Given the description of an element on the screen output the (x, y) to click on. 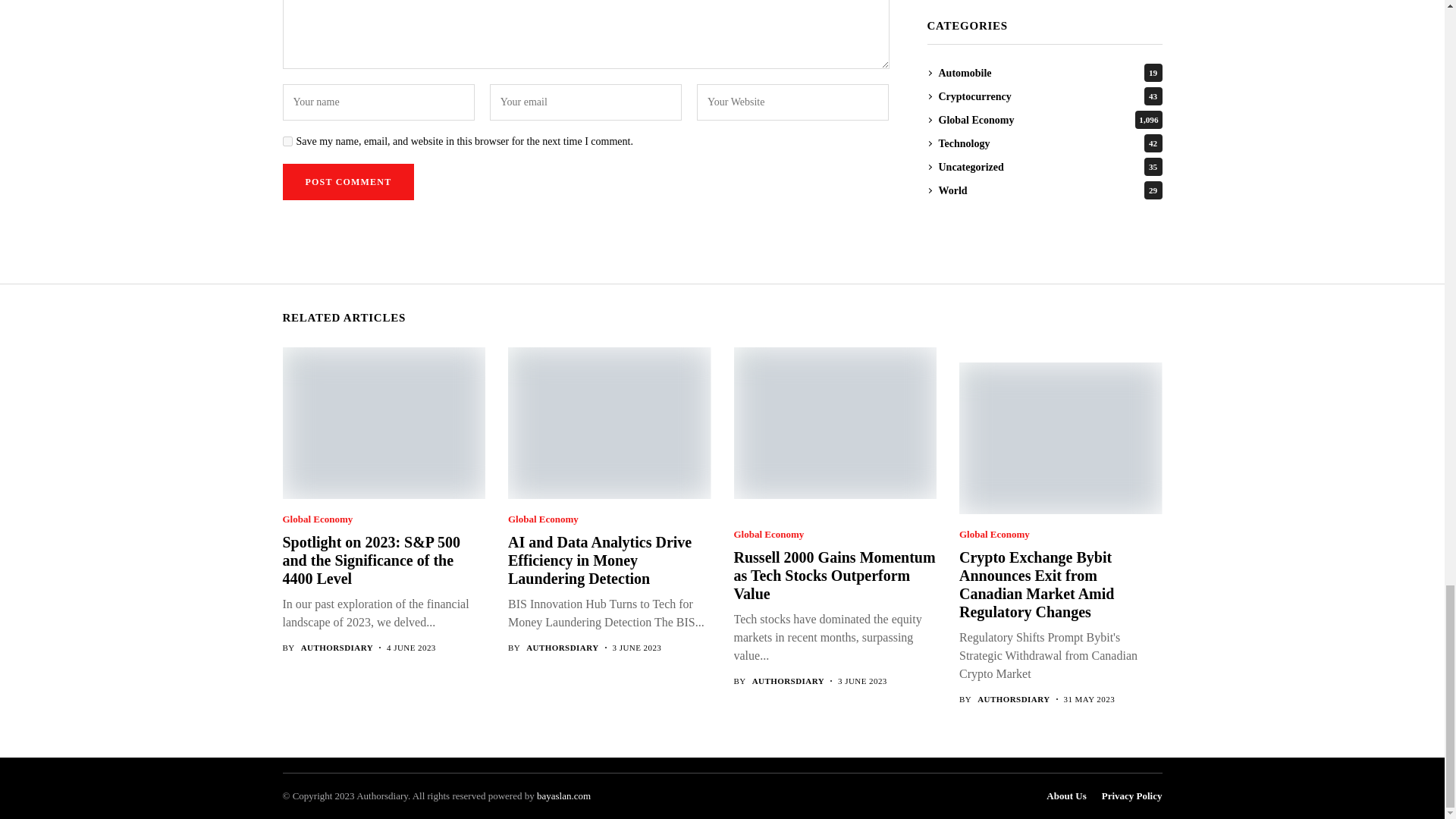
Posts by authorsdiary (561, 647)
Posts by authorsdiary (1012, 699)
Posts by authorsdiary (336, 647)
yes (287, 141)
Post Comment (347, 181)
Posts by authorsdiary (788, 681)
